Given the description of an element on the screen output the (x, y) to click on. 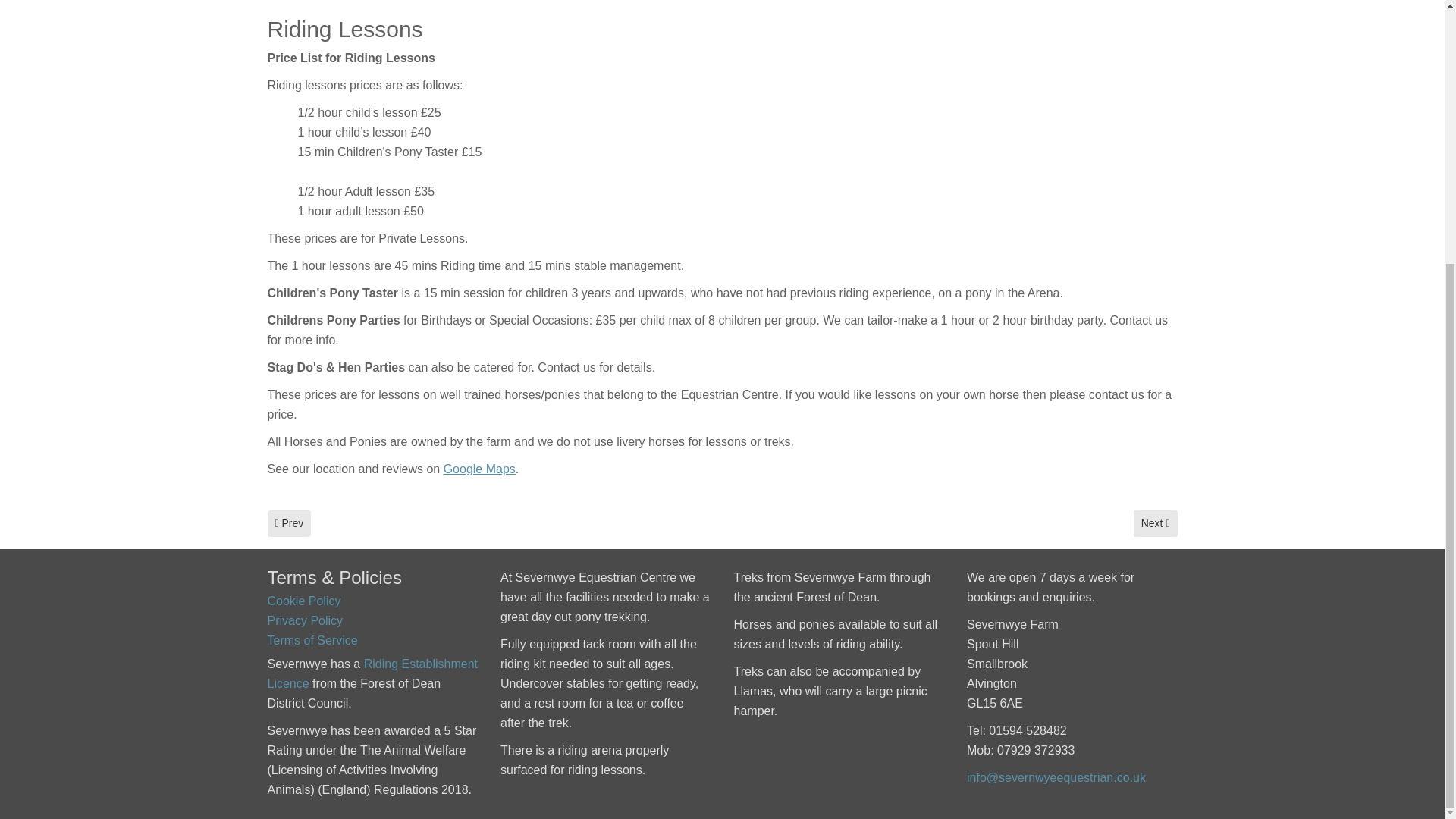
Google Maps (479, 468)
Cookie Policy (1155, 523)
Privacy Policy (303, 600)
Terms of Service (304, 620)
Riding Establishment Licence (311, 640)
